Given the description of an element on the screen output the (x, y) to click on. 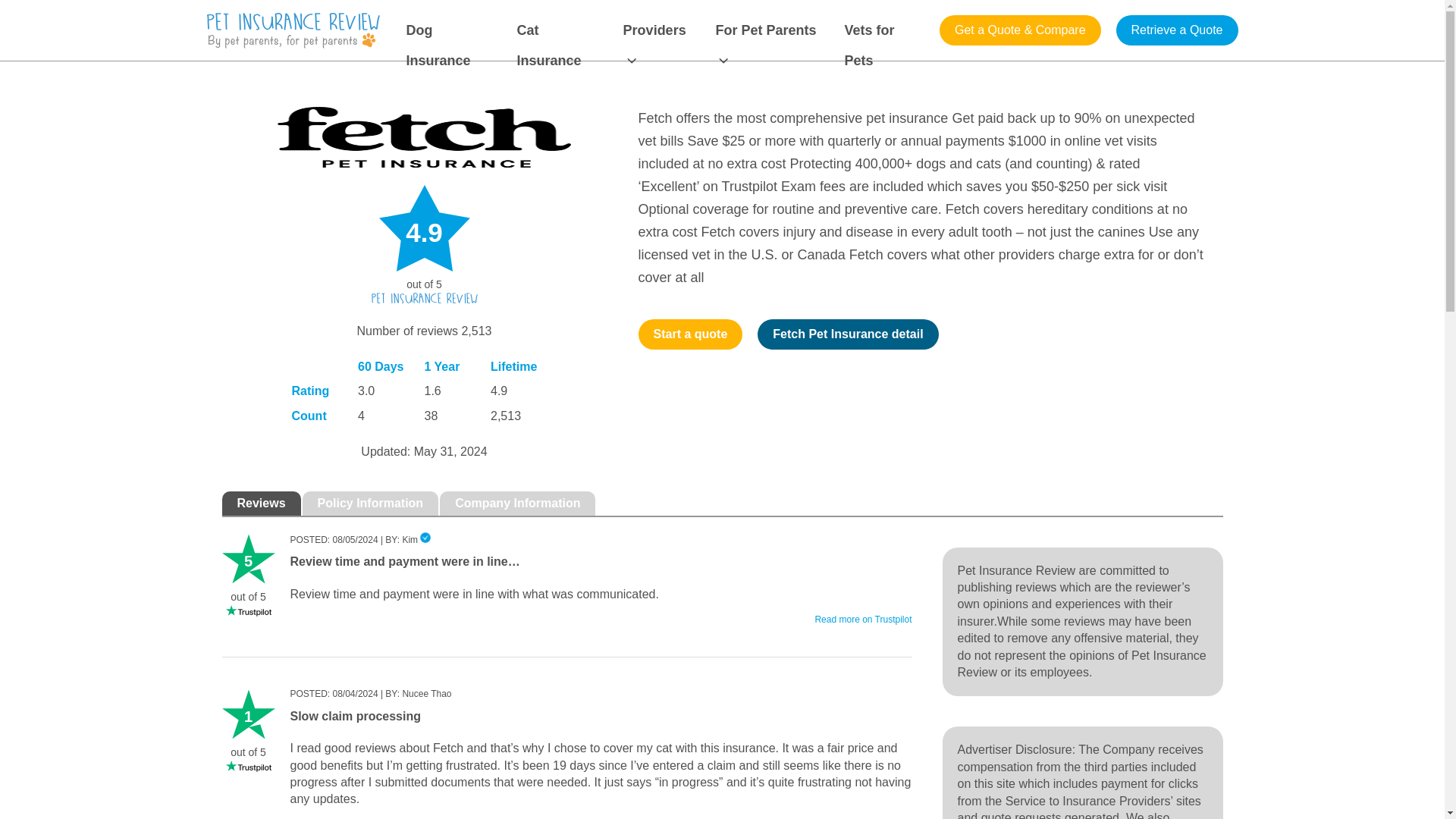
For Pet Parents (769, 30)
Dog Insurance (451, 30)
Providers (660, 30)
Cat Insurance (560, 30)
back to home (292, 30)
